Given the description of an element on the screen output the (x, y) to click on. 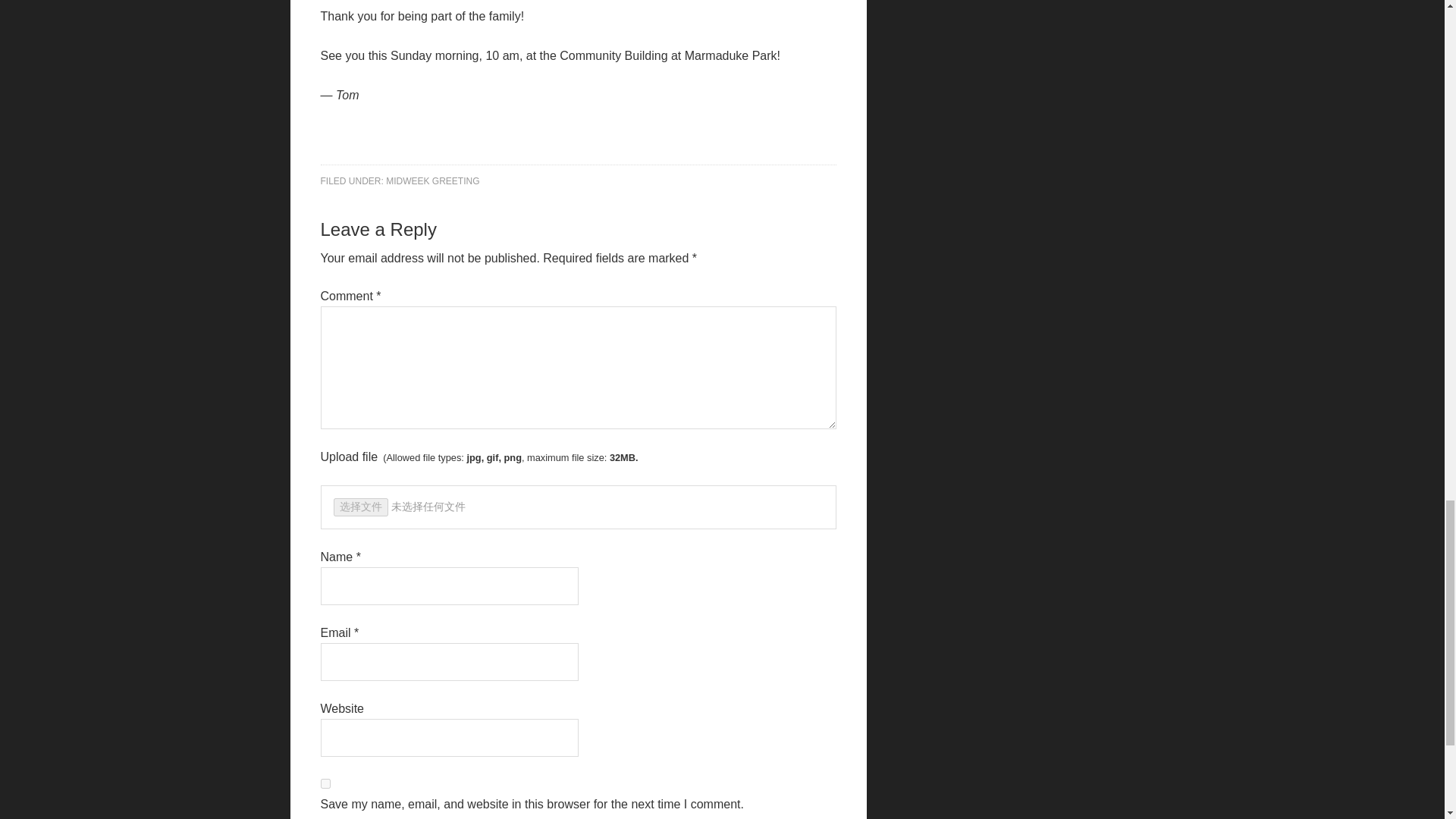
yes (325, 783)
MIDWEEK GREETING (432, 181)
